Given the description of an element on the screen output the (x, y) to click on. 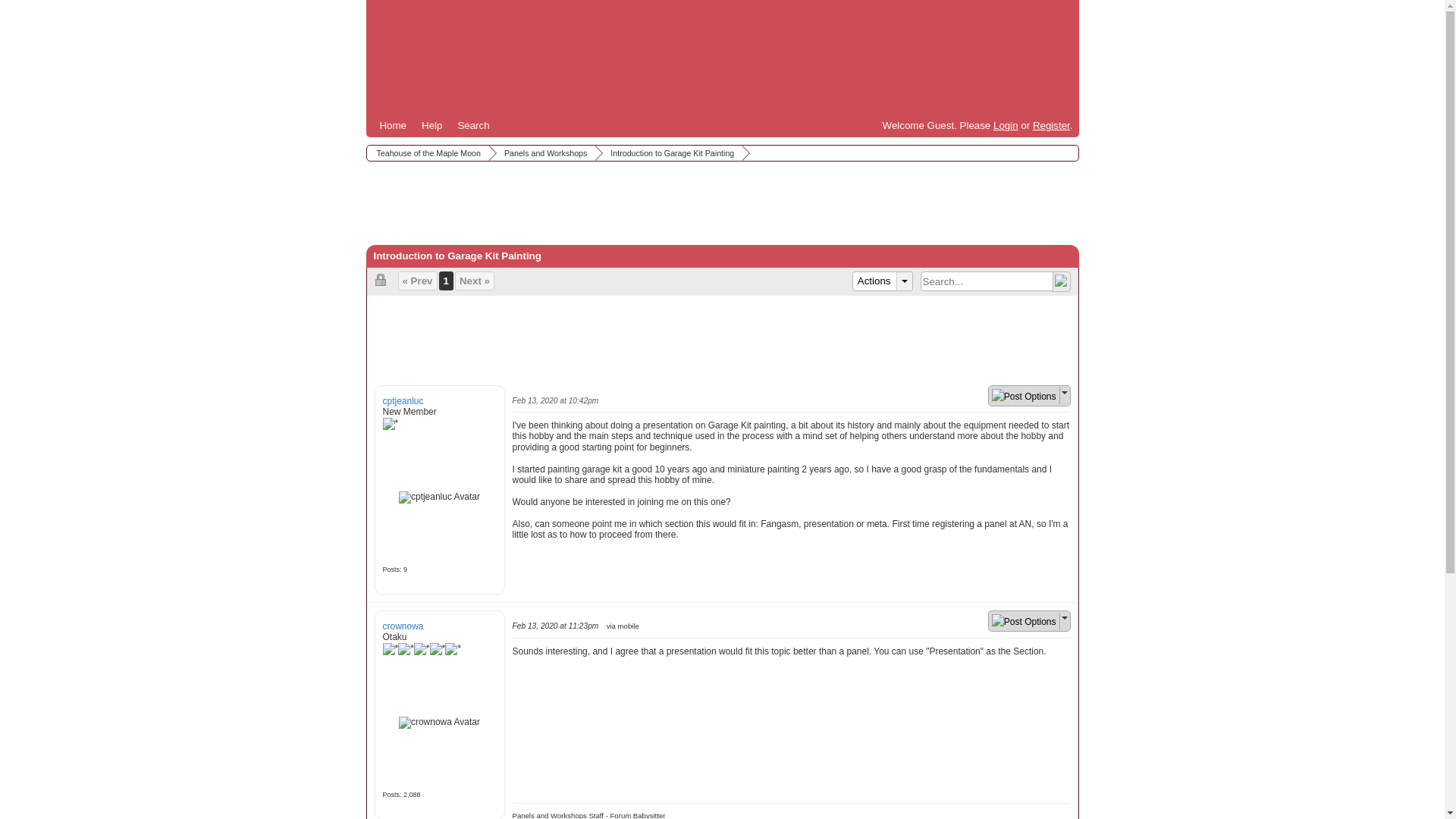
Search (472, 125)
Home (392, 125)
cptjeanluc (438, 497)
Introduction to Garage Kit Painting (669, 152)
This thread is locked (382, 279)
Login (1004, 125)
crownowa (438, 722)
Post Options (1024, 396)
